Given the description of an element on the screen output the (x, y) to click on. 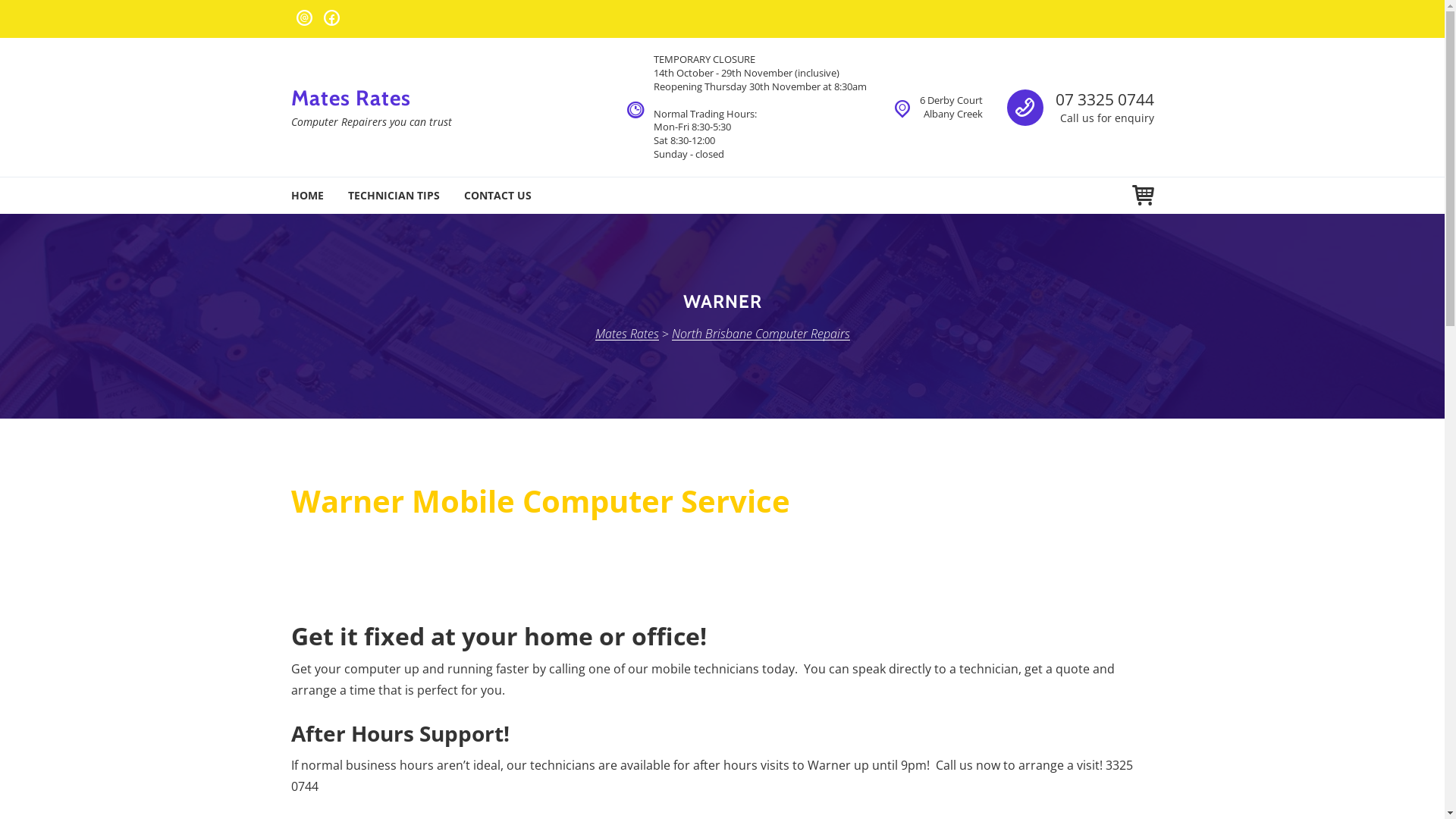
Mates Rates Element type: text (626, 333)
07 3325 0744 Element type: text (1104, 98)
TECHNICIAN TIPS Element type: text (393, 195)
Mates Rates Element type: text (351, 97)
HOME Element type: text (307, 195)
View your shopping cart Element type: hover (1142, 195)
North Brisbane Computer Repairs Element type: text (760, 333)
CONTACT US Element type: text (497, 195)
